Given the description of an element on the screen output the (x, y) to click on. 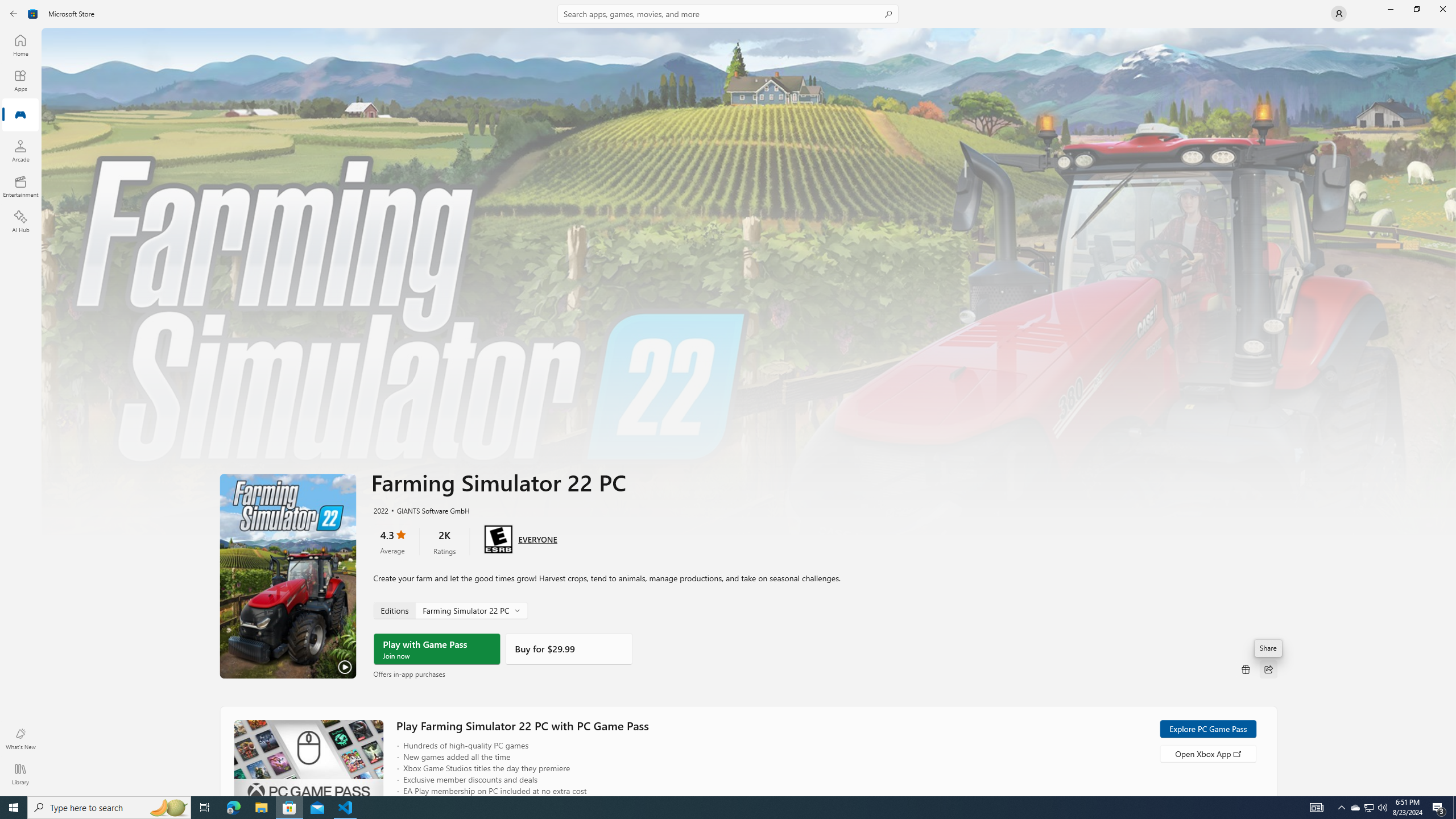
2022 (379, 510)
Play Trailer (287, 575)
4.3 stars. Click to skip to ratings and reviews (392, 541)
Search (727, 13)
